Given the description of an element on the screen output the (x, y) to click on. 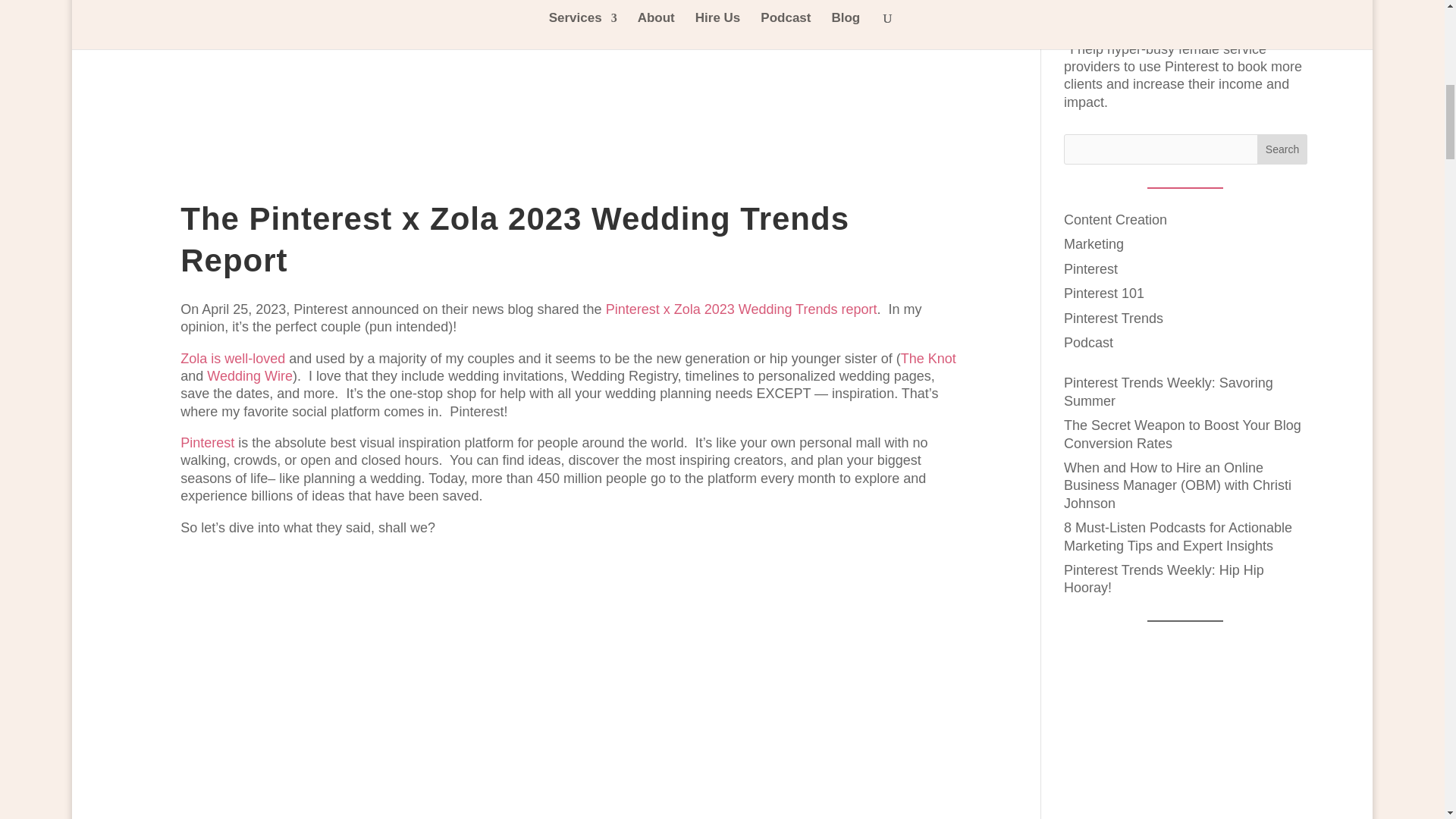
Wedding Wire (249, 376)
Zola is well-loved (232, 358)
Pinterest x Zola 2023 Wedding Trends report (741, 309)
Pinterest (207, 442)
The Knot (928, 358)
